Given the description of an element on the screen output the (x, y) to click on. 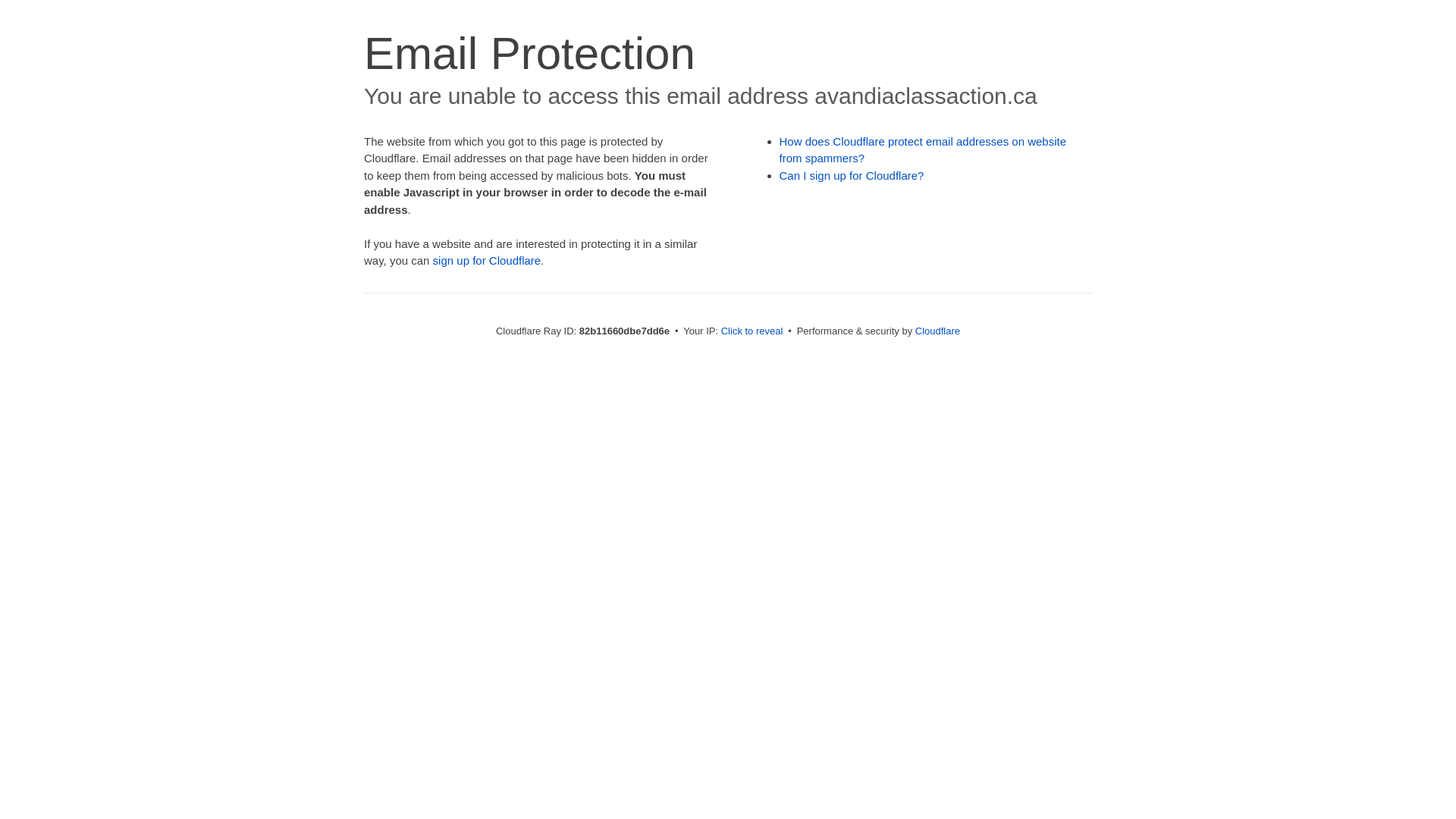
sign up for Cloudflare Element type: text (487, 260)
Can I sign up for Cloudflare? Element type: text (851, 175)
Cloudflare Element type: text (937, 330)
Click to reveal Element type: text (752, 330)
